Given the description of an element on the screen output the (x, y) to click on. 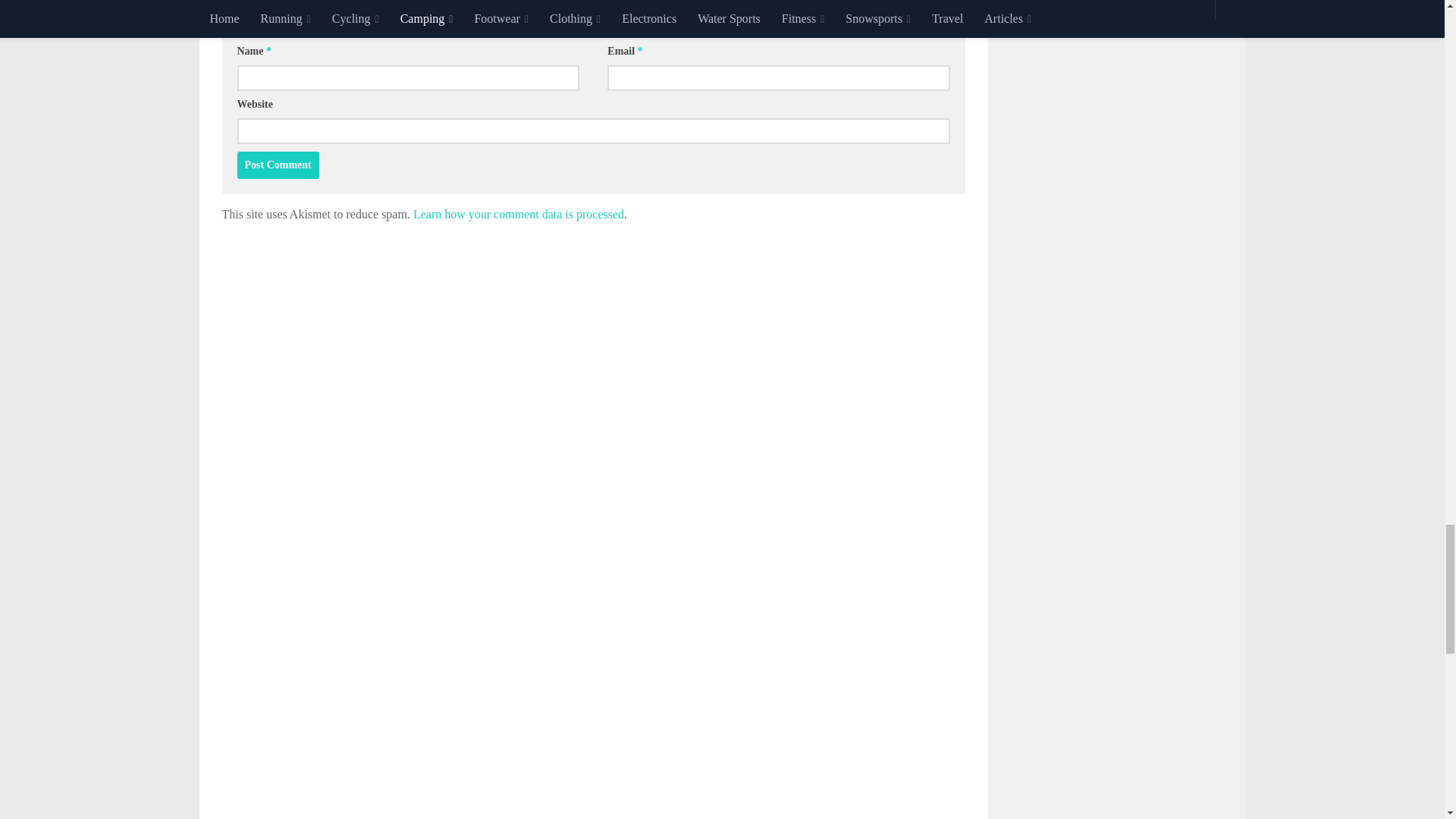
Post Comment (276, 165)
